Given the description of an element on the screen output the (x, y) to click on. 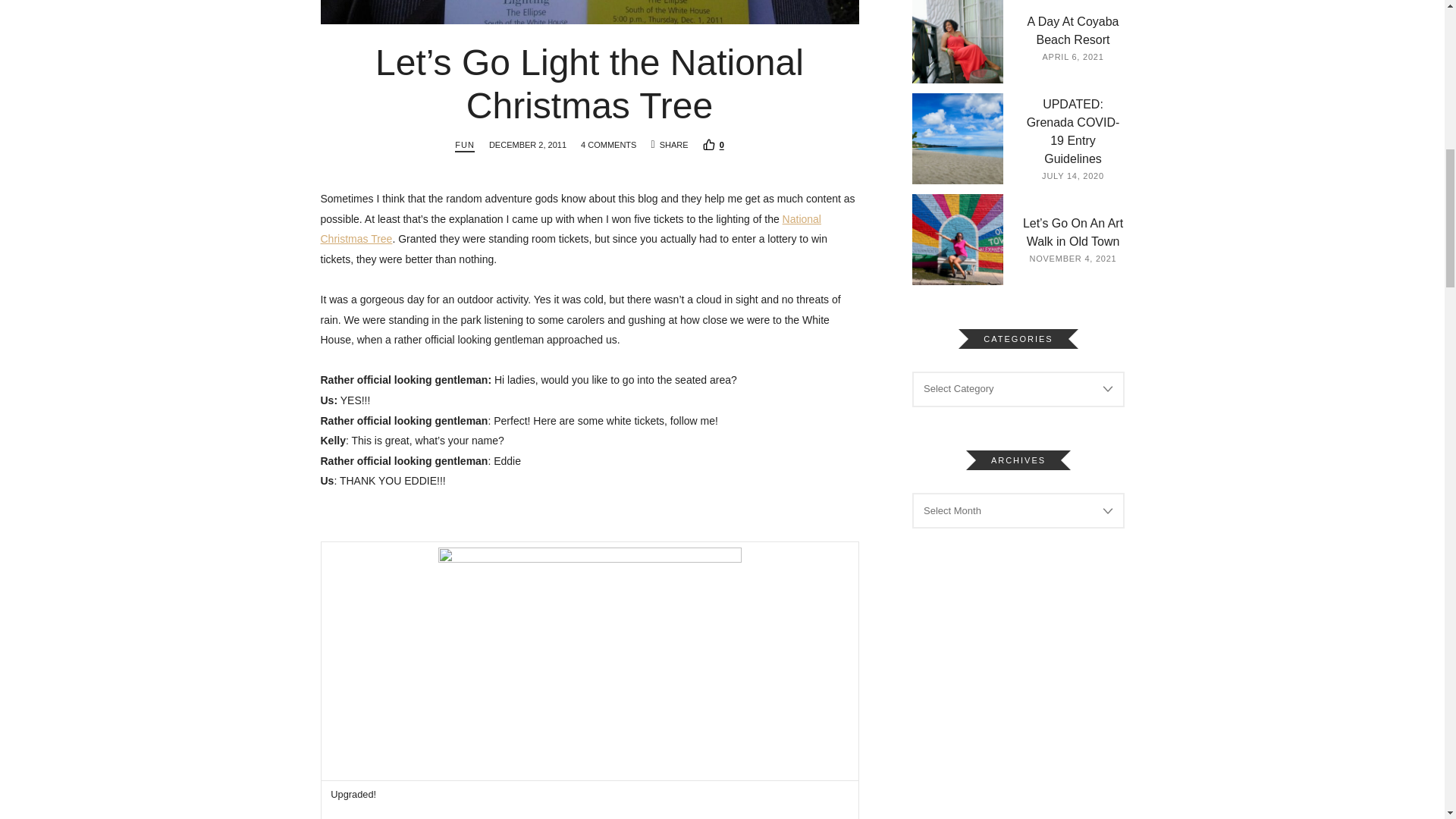
DECEMBER 2, 2011 (527, 144)
0 (713, 144)
National Christmas Tree (570, 228)
A Day At Coyaba Beach Resort (957, 41)
Let's Go On An Art Walk in Old Town (957, 239)
4 COMMENTS (608, 144)
Recommend this (713, 144)
FUN (464, 145)
UPDATED: Grenada COVID-19 Entry Guidelines (957, 138)
